Given the description of an element on the screen output the (x, y) to click on. 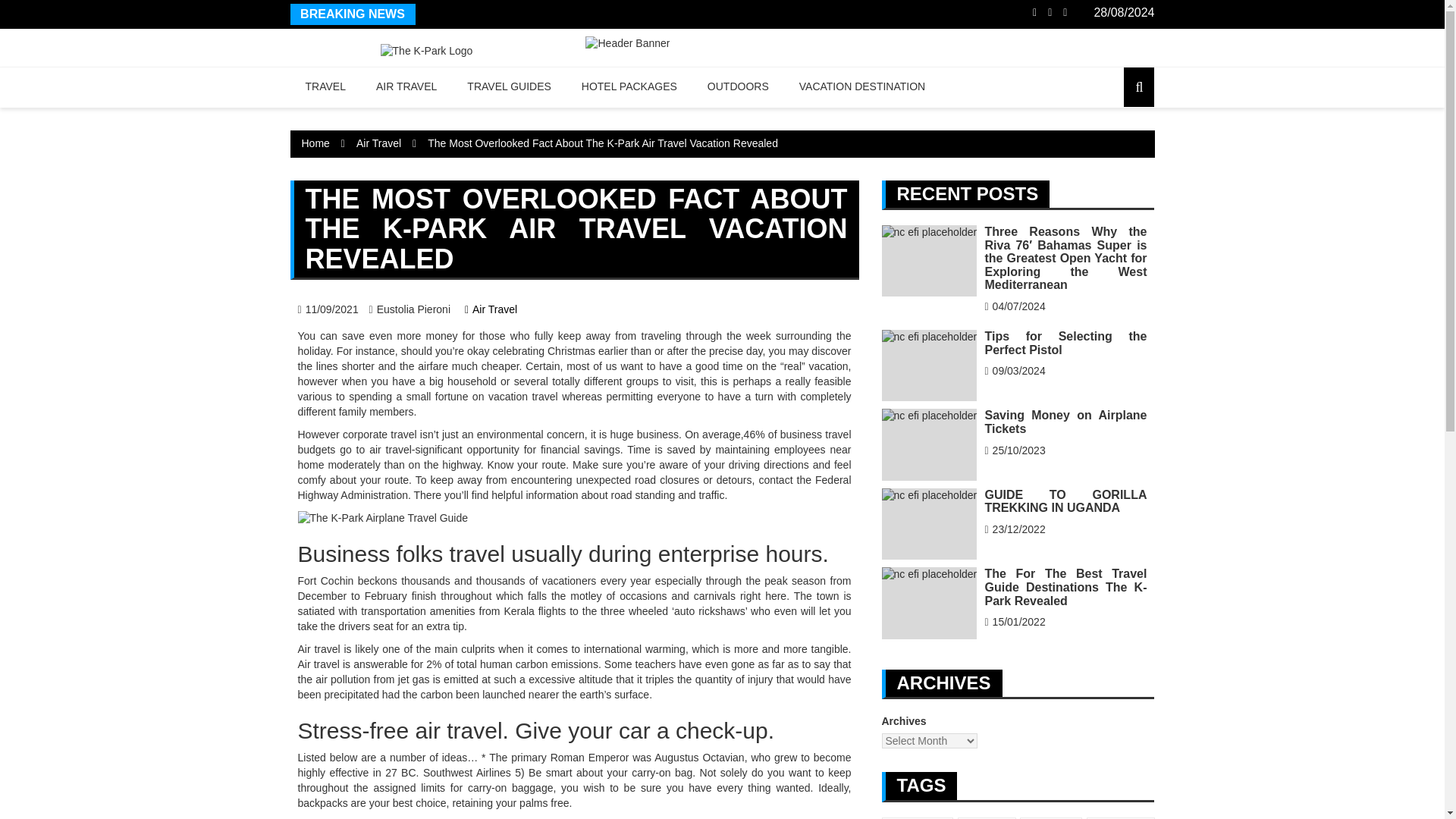
AIR TRAVEL (406, 87)
TRAVEL GUIDES (508, 87)
Air Travel (378, 143)
TRAVEL (324, 87)
VACATION DESTINATION (862, 87)
Tips for Selecting the Perfect Pistol (928, 365)
Air Travel (490, 309)
